Given the description of an element on the screen output the (x, y) to click on. 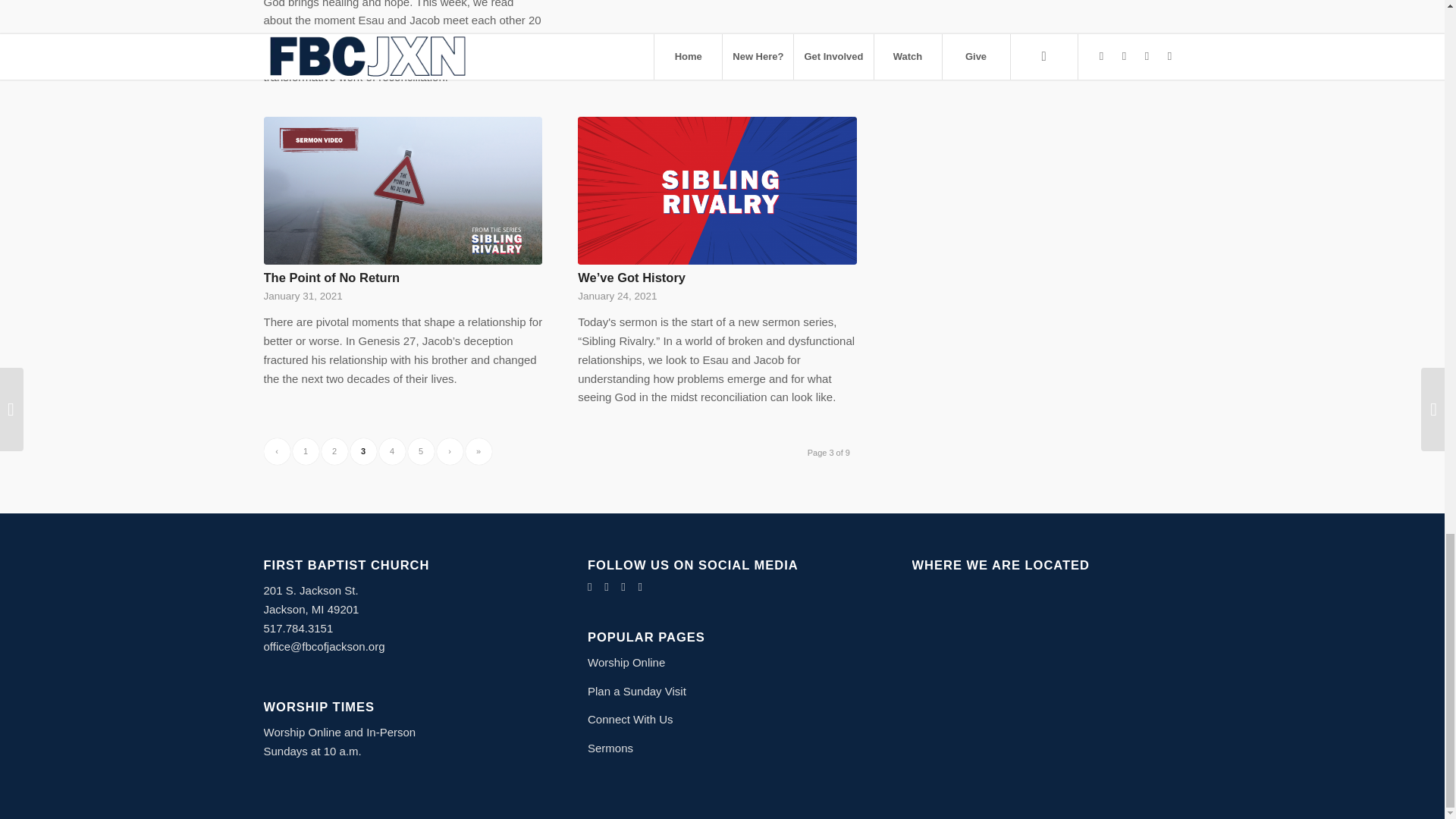
The Point of No Return (331, 277)
The Point of No Return (403, 190)
